Given the description of an element on the screen output the (x, y) to click on. 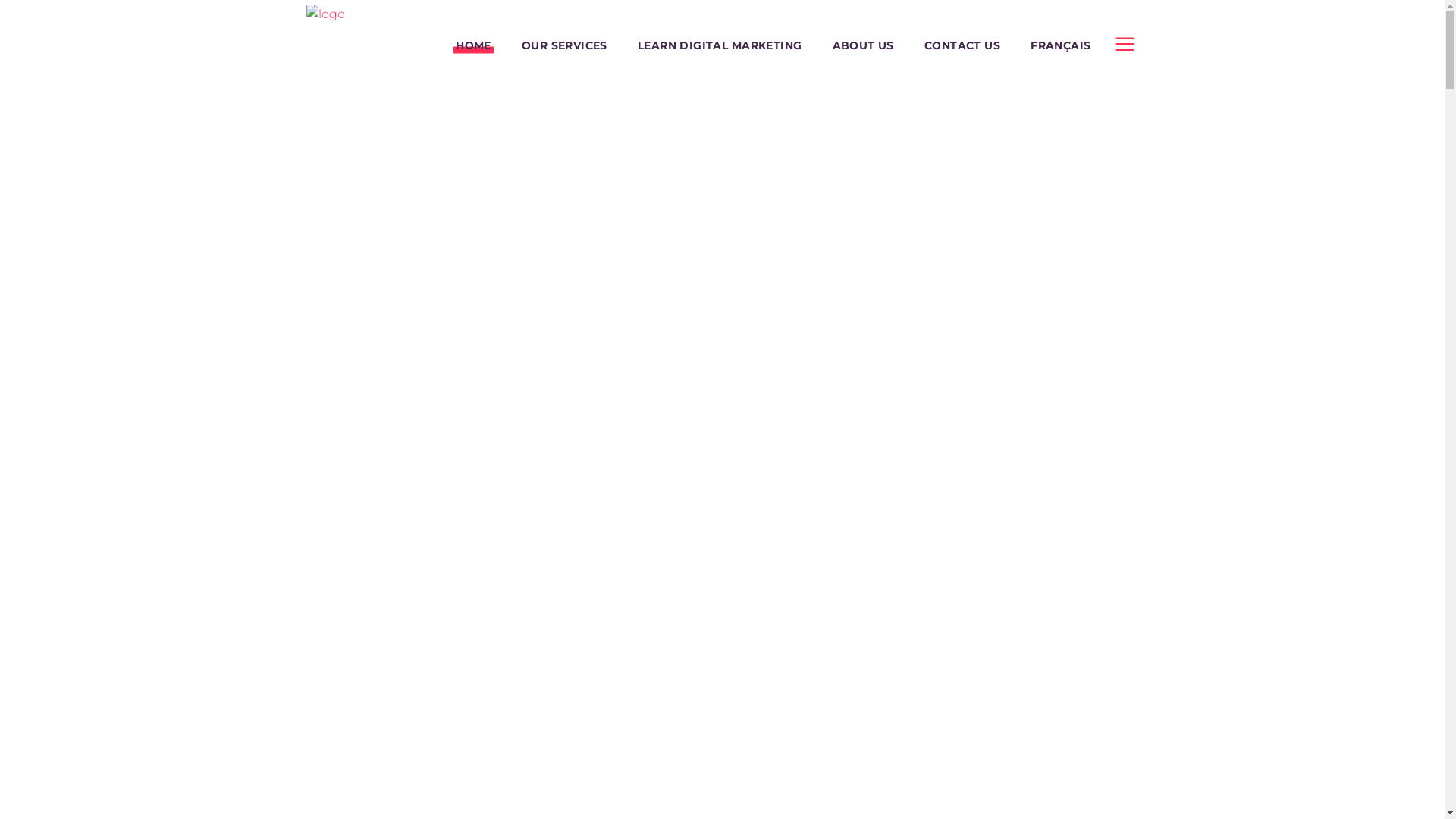
WebPros Marketing Agency Element type: text (393, 674)
CONTACT US Element type: text (962, 45)
Privacy Policy Element type: text (344, 718)
LEARN DIGITAL MARKETING Element type: text (719, 45)
HOME Element type: text (473, 45)
OUR SERVICES Element type: text (564, 45)
ABOUT US Element type: text (863, 45)
